Given the description of an element on the screen output the (x, y) to click on. 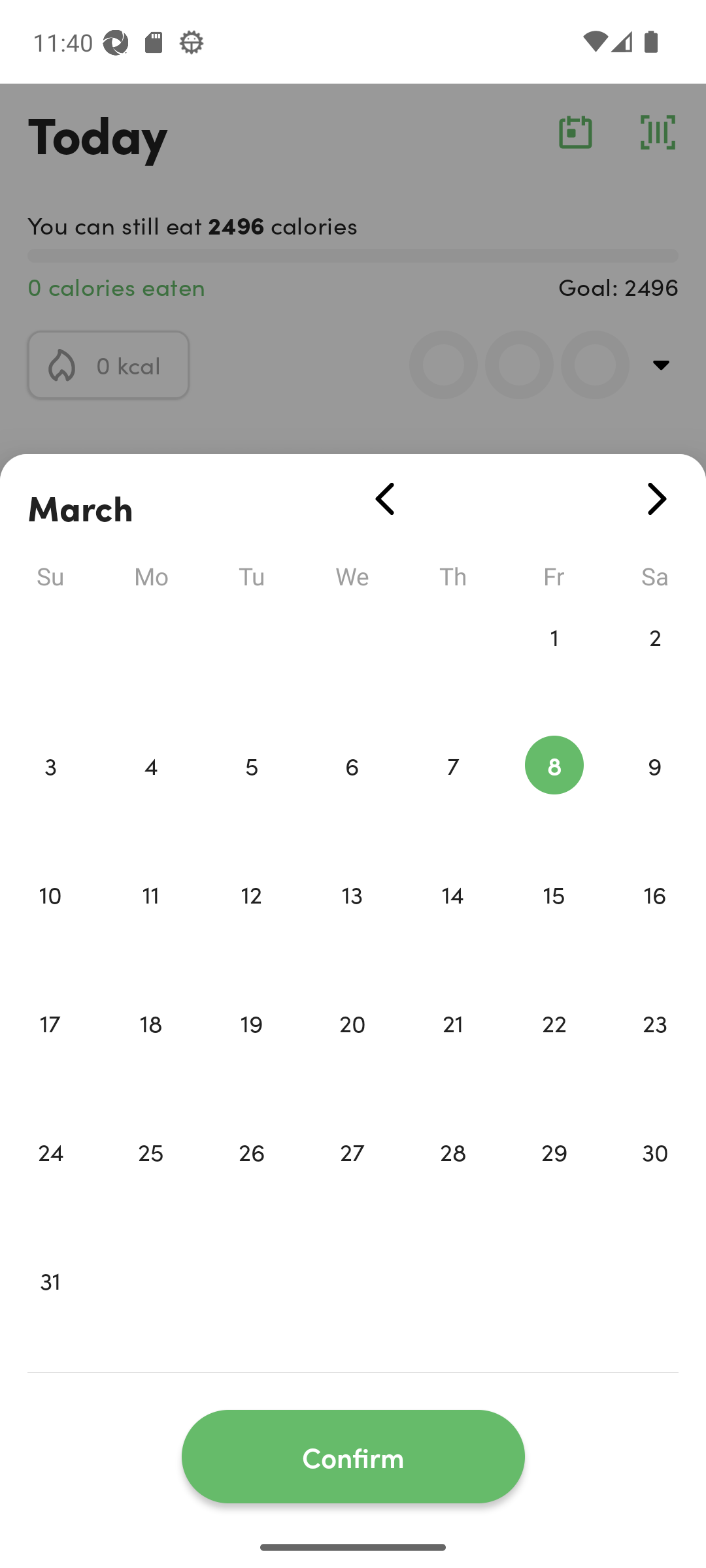
1 (554, 663)
2 (655, 663)
3 (50, 793)
4 (150, 793)
5 (251, 793)
6 (352, 793)
7 (453, 793)
8 (554, 793)
9 (655, 793)
10 (50, 921)
11 (150, 921)
12 (251, 921)
13 (352, 921)
14 (453, 921)
15 (554, 921)
16 (655, 921)
17 (50, 1050)
18 (150, 1050)
19 (251, 1050)
20 (352, 1050)
21 (453, 1050)
22 (554, 1050)
23 (655, 1050)
24 (50, 1178)
25 (150, 1178)
26 (251, 1178)
27 (352, 1178)
28 (453, 1178)
29 (554, 1178)
30 (655, 1178)
31 (50, 1307)
Confirm (353, 1456)
